Given the description of an element on the screen output the (x, y) to click on. 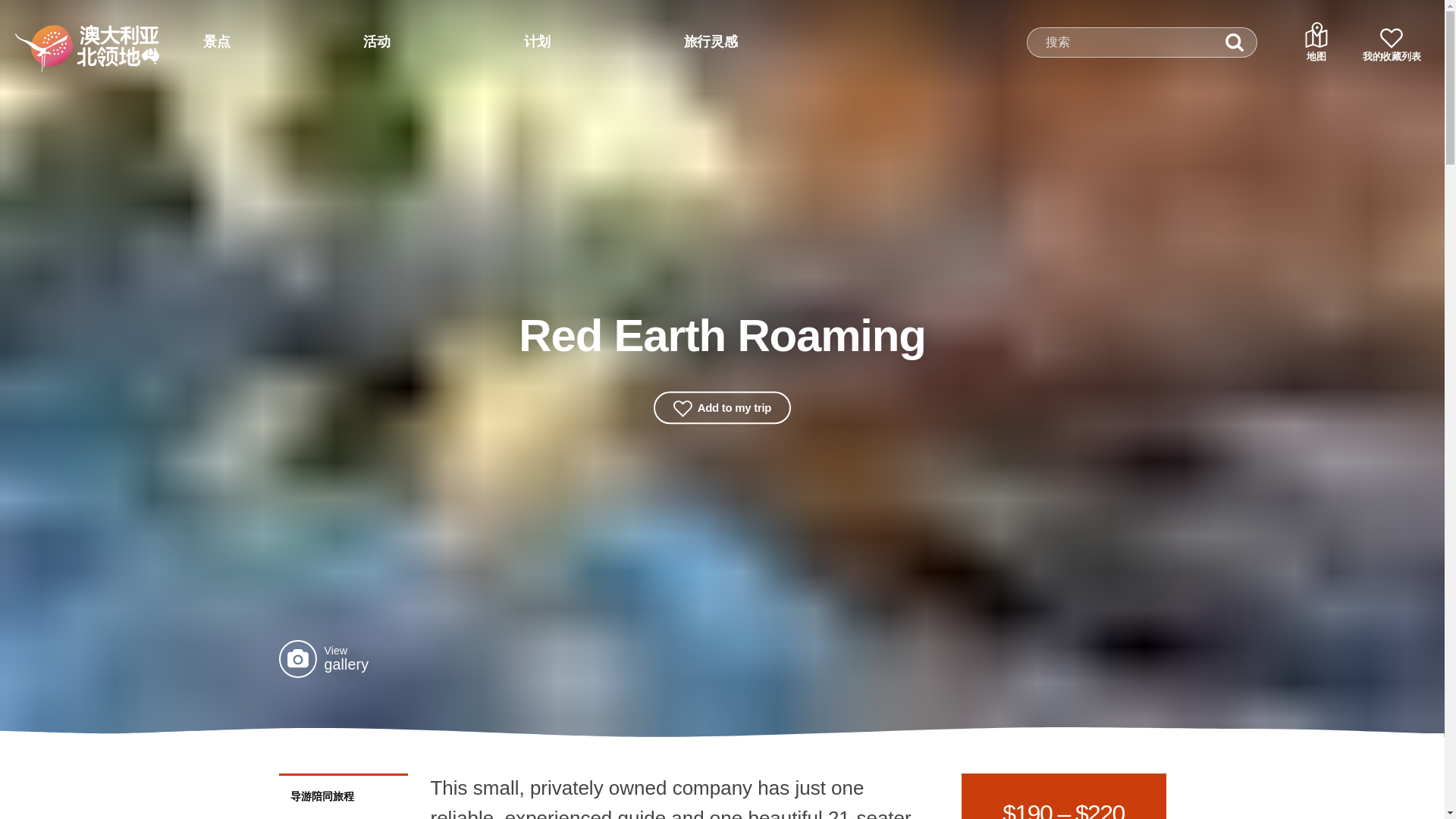
Home (67, 36)
